Given the description of an element on the screen output the (x, y) to click on. 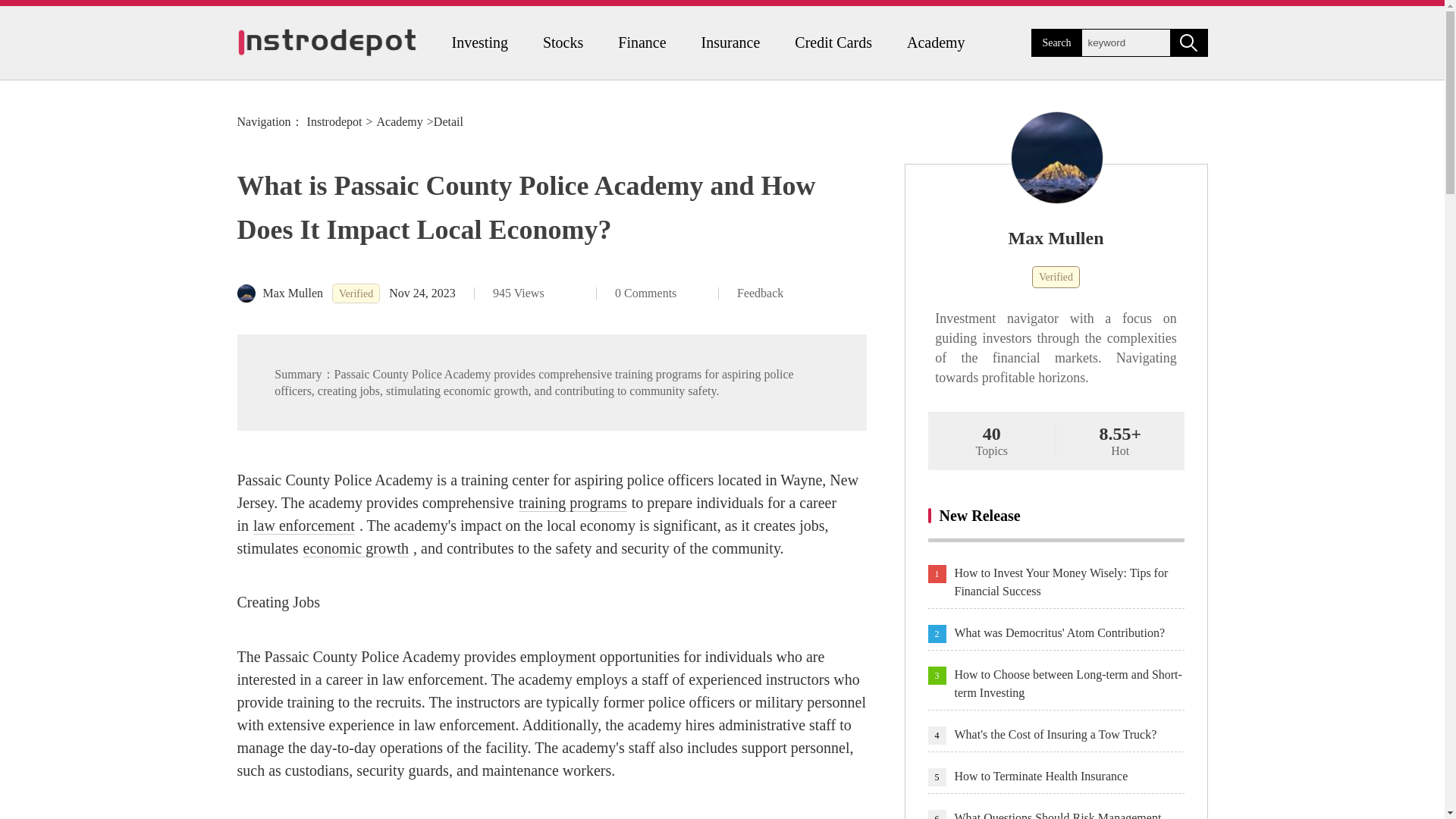
What's the Cost of Insuring a Tow Truck? (1068, 734)
Instrodepot (334, 121)
keyword (1125, 42)
law enforcement (304, 525)
Academy (935, 42)
Academy (935, 42)
economic growth (355, 548)
Max Mullen (279, 292)
Stocks (562, 42)
What was Democritus' Atom Contribution? (1068, 633)
Stocks (562, 42)
Investing (479, 42)
Finance (641, 42)
Credit Cards (832, 42)
Insurance (730, 42)
